Given the description of an element on the screen output the (x, y) to click on. 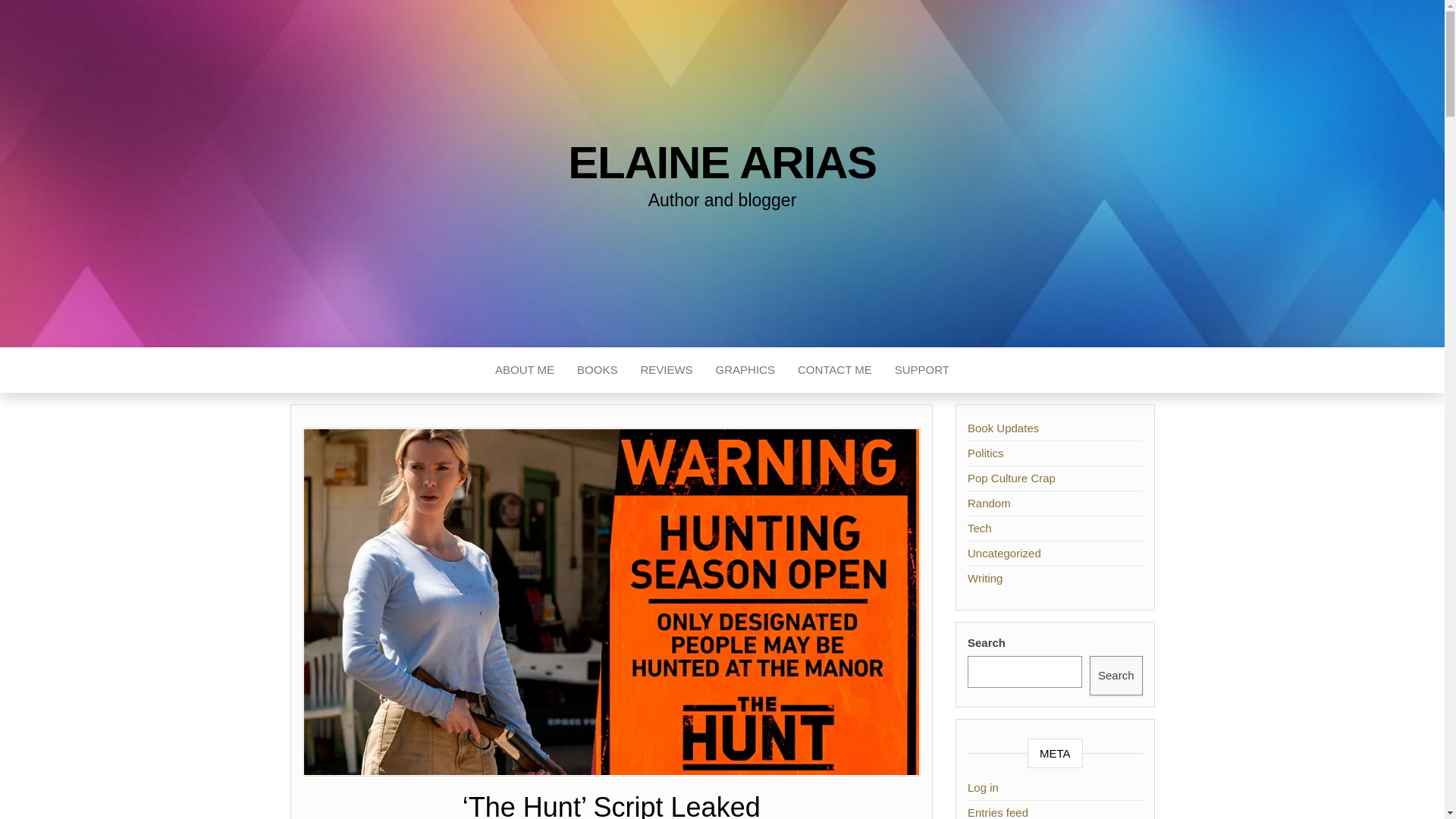
Politics (986, 452)
Reviews (665, 370)
BOOKS (597, 370)
Book Updates (1003, 427)
GRAPHICS (745, 370)
Log in (983, 787)
ABOUT ME (524, 370)
Pop Culture Crap (1011, 477)
Search (1115, 675)
About Me (524, 370)
Entries feed (997, 812)
CONTACT ME (834, 370)
Support (921, 370)
Random (989, 502)
REVIEWS (665, 370)
